Given the description of an element on the screen output the (x, y) to click on. 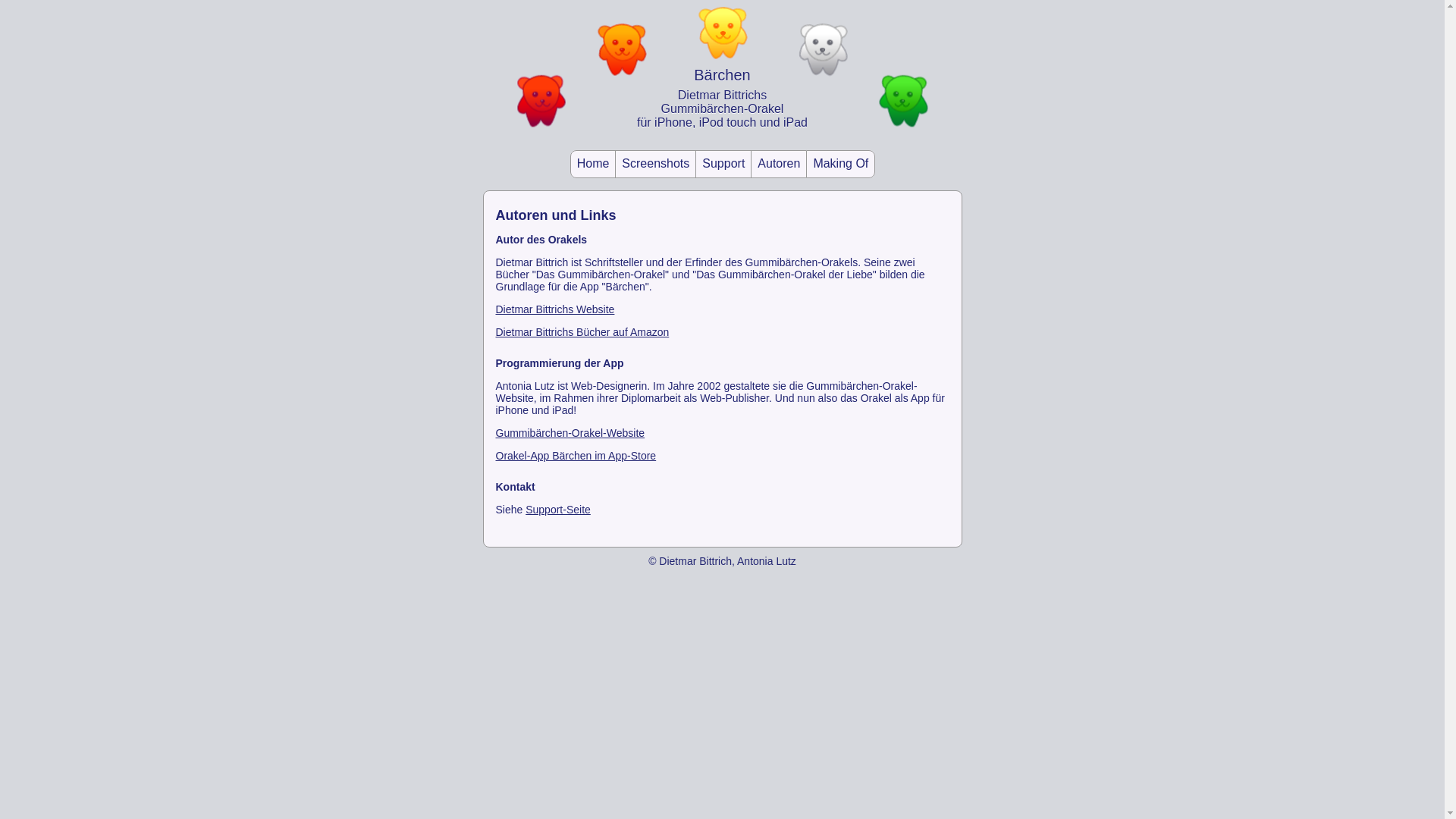
Dietmar Bittrichs Website Element type: text (555, 309)
Making Of Element type: text (840, 164)
Autoren Element type: text (778, 164)
Home Element type: text (593, 164)
Support-Seite Element type: text (557, 509)
Support Element type: text (723, 164)
Screenshots Element type: text (655, 164)
